Given the description of an element on the screen output the (x, y) to click on. 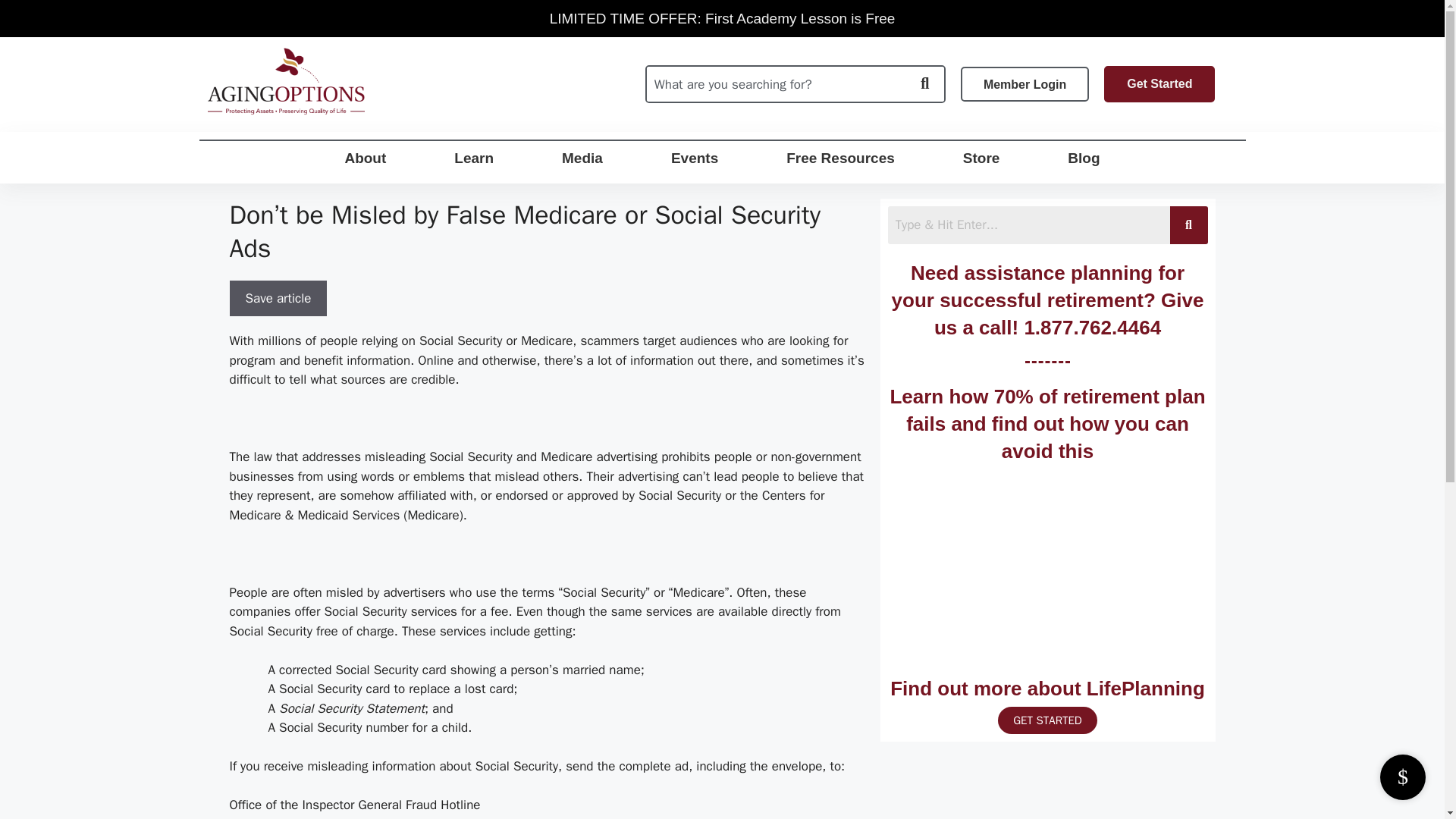
Search (775, 83)
Member Login (1024, 83)
Search (1027, 225)
LIMITED TIME OFFER: First Academy Lesson is Free (722, 18)
Get Started (1158, 84)
